Given the description of an element on the screen output the (x, y) to click on. 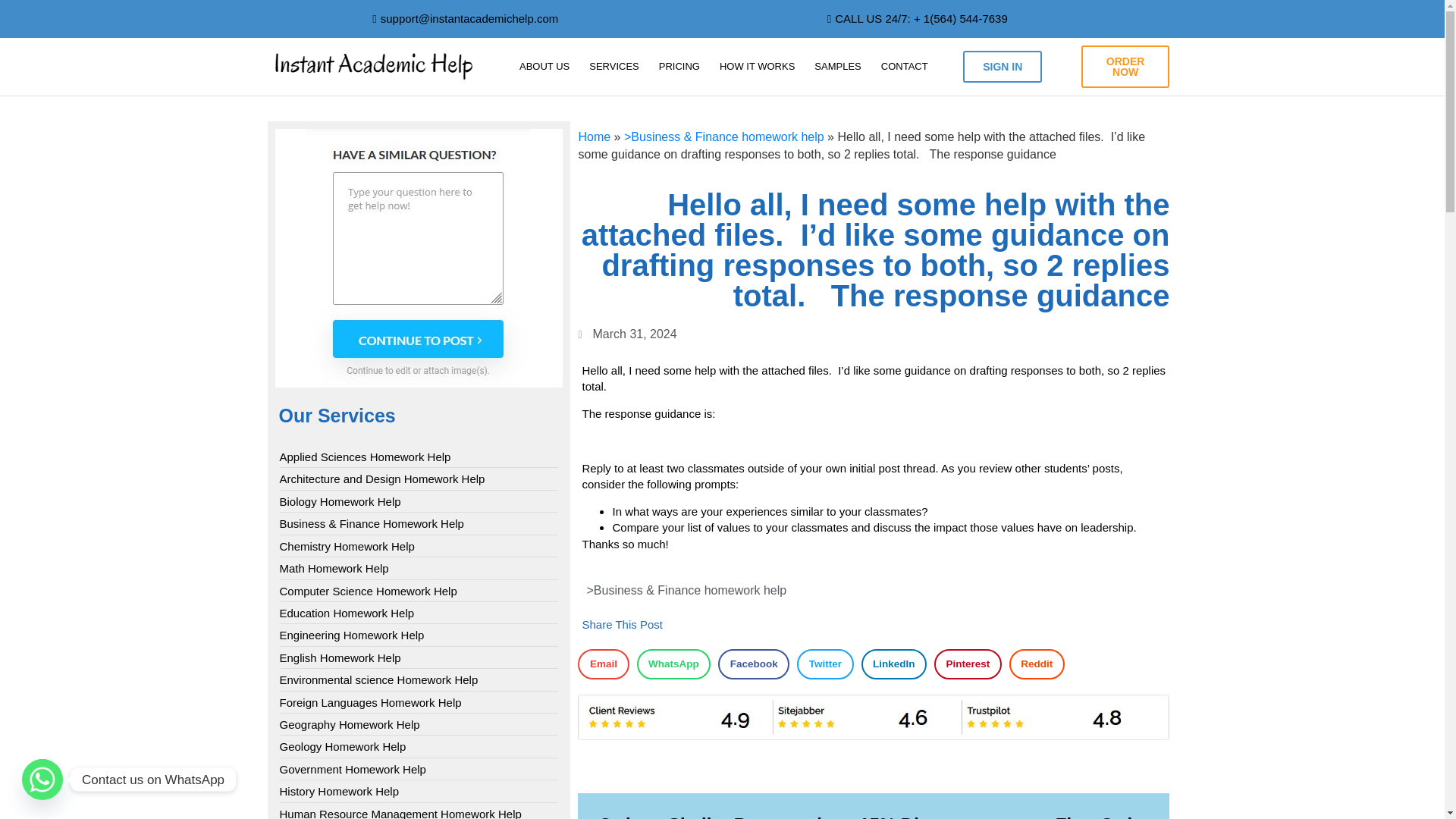
SERVICES (614, 66)
Biology Homework Help (339, 501)
PRICING (679, 66)
Human Resource Management Homework Help (400, 812)
History Homework Help (338, 790)
Applied Sciences Homework Help (364, 456)
SAMPLES (837, 66)
Architecture and Design Homework Help (381, 478)
Government Homework Help (352, 769)
English Homework Help (339, 657)
Geography Homework Help (349, 724)
Chemistry Homework Help (346, 546)
Engineering Homework Help (351, 634)
Math Homework Help (333, 568)
ORDER NOW (1125, 66)
